Given the description of an element on the screen output the (x, y) to click on. 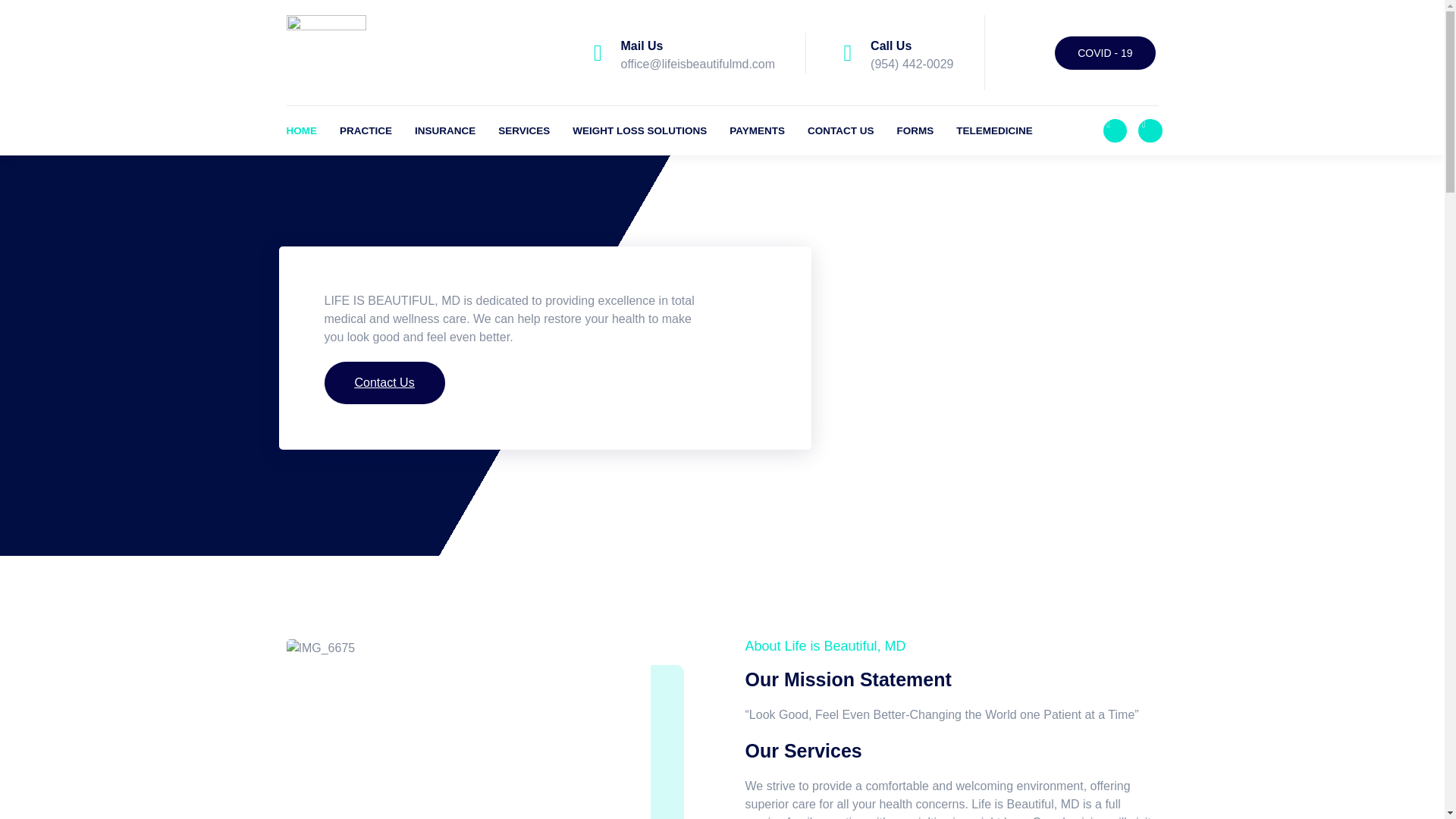
FORMS (926, 130)
SERVICES (534, 130)
Call Us (890, 45)
COVID - 19 (1104, 52)
PRACTICE (376, 130)
PAYMENTS (768, 130)
INSURANCE (455, 130)
CONTACT US (852, 130)
TELEMEDICINE (1005, 130)
HOME (313, 130)
Contact Us (227, 382)
WEIGHT LOSS SOLUTIONS (650, 130)
Mail Us (641, 45)
